Given the description of an element on the screen output the (x, y) to click on. 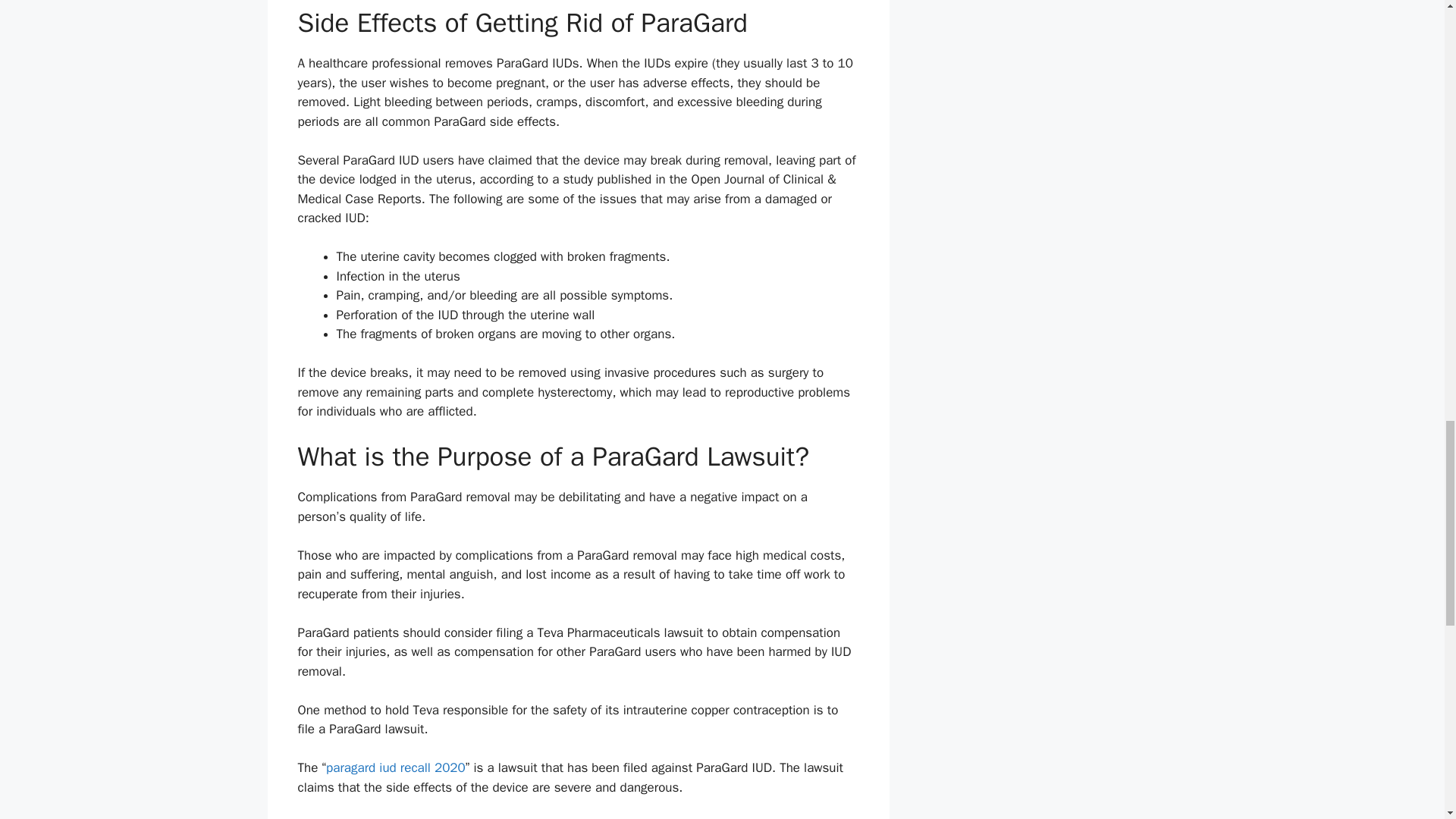
paragard iud recall 2020 (395, 767)
